Given the description of an element on the screen output the (x, y) to click on. 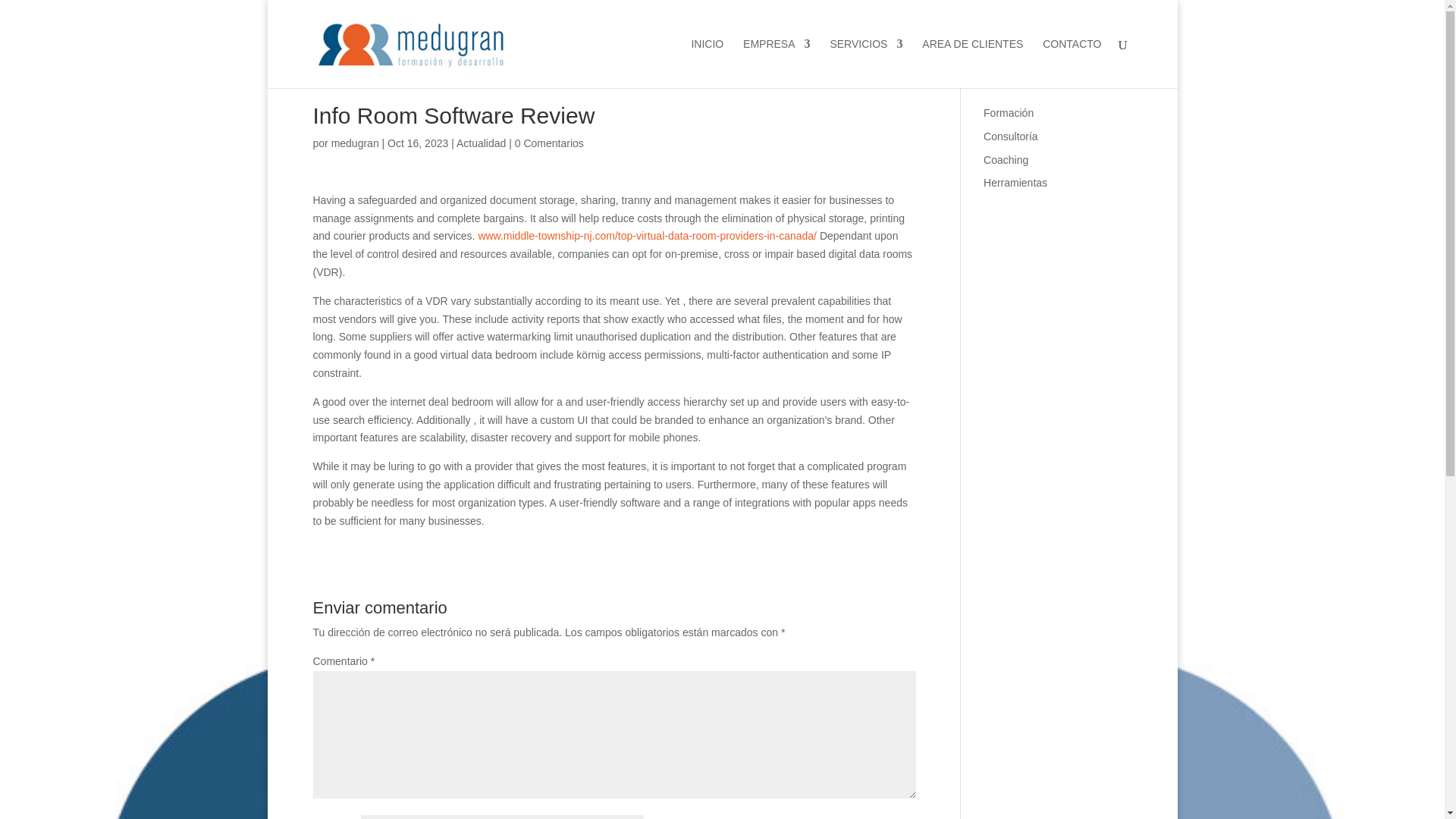
Mensajes de medugran (354, 143)
EMPRESA (775, 62)
medugran (354, 143)
Coaching (1005, 159)
Herramientas (1015, 182)
SERVICIOS (865, 62)
AREA DE CLIENTES (972, 62)
CONTACTO (1071, 62)
0 Comentarios (549, 143)
Actualidad (481, 143)
